Given the description of an element on the screen output the (x, y) to click on. 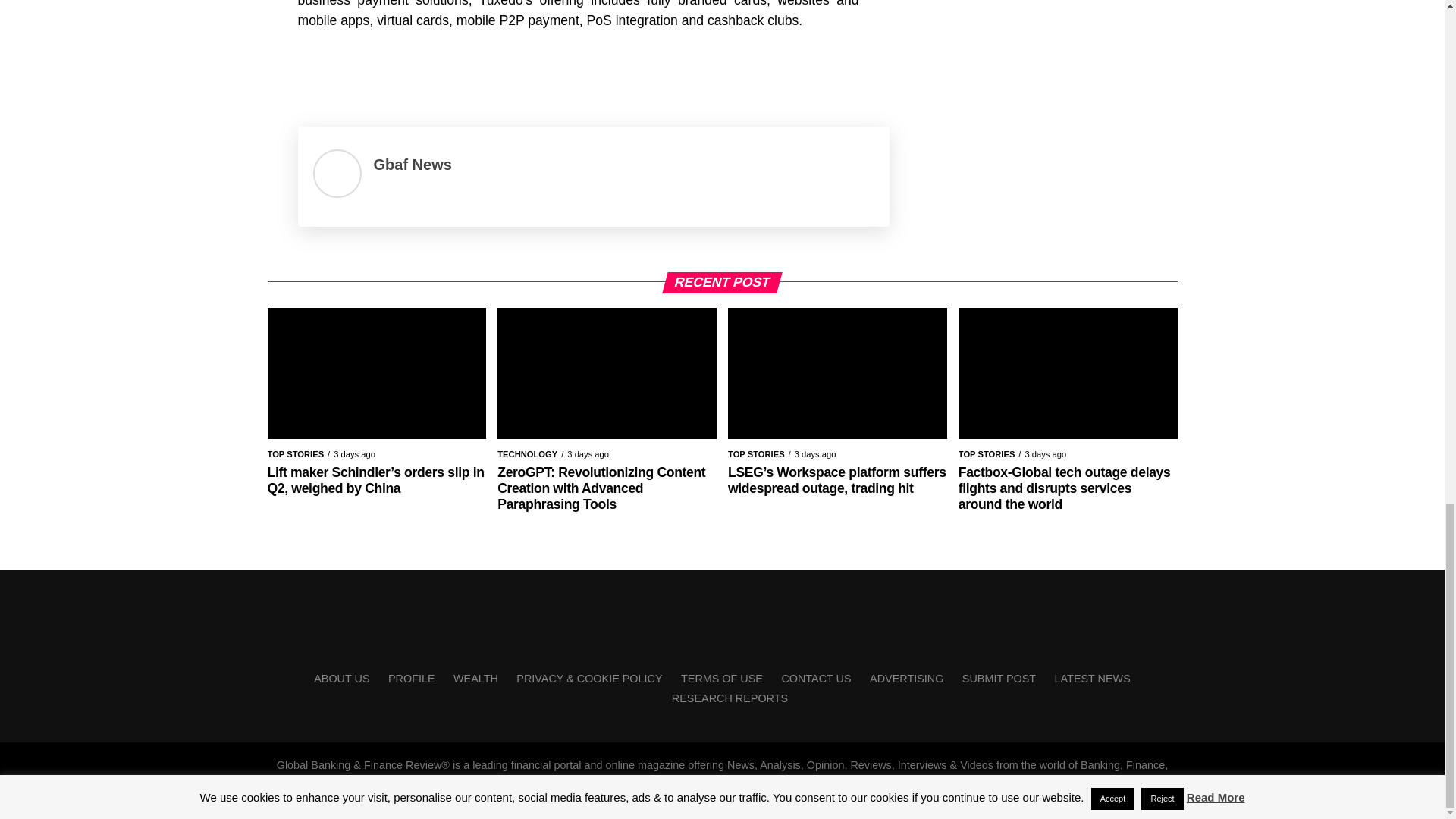
Share on Twitter (354, 69)
Share on Facebook (314, 69)
Share on Linkedin (393, 69)
Gbaf News (411, 164)
